Given the description of an element on the screen output the (x, y) to click on. 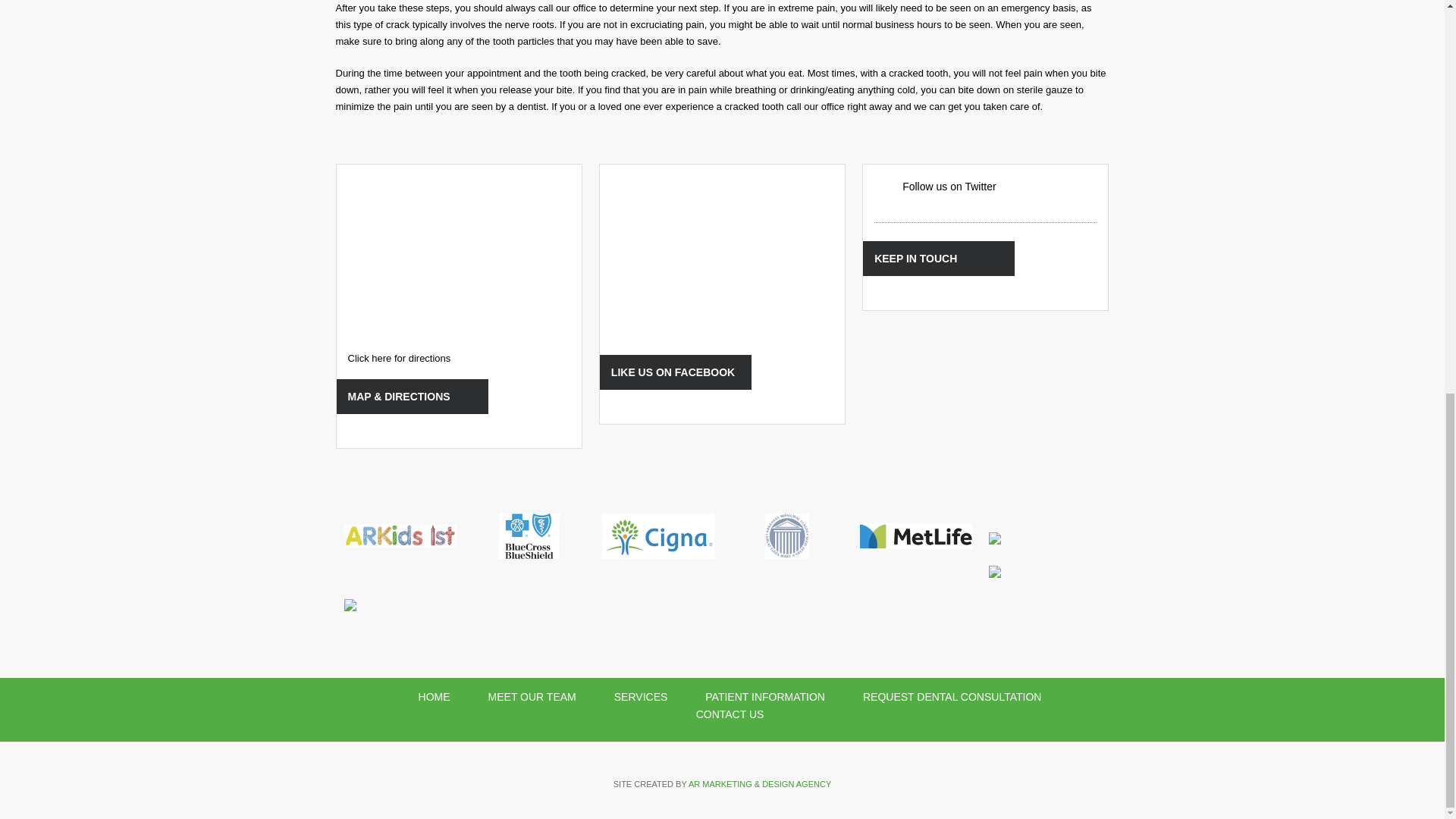
Click here for directions (398, 357)
HOME (434, 696)
CONTACT US (730, 713)
MEET OUR TEAM (532, 696)
SERVICES (640, 696)
PATIENT INFORMATION (764, 696)
REQUEST DENTAL CONSULTATION (951, 696)
